Given the description of an element on the screen output the (x, y) to click on. 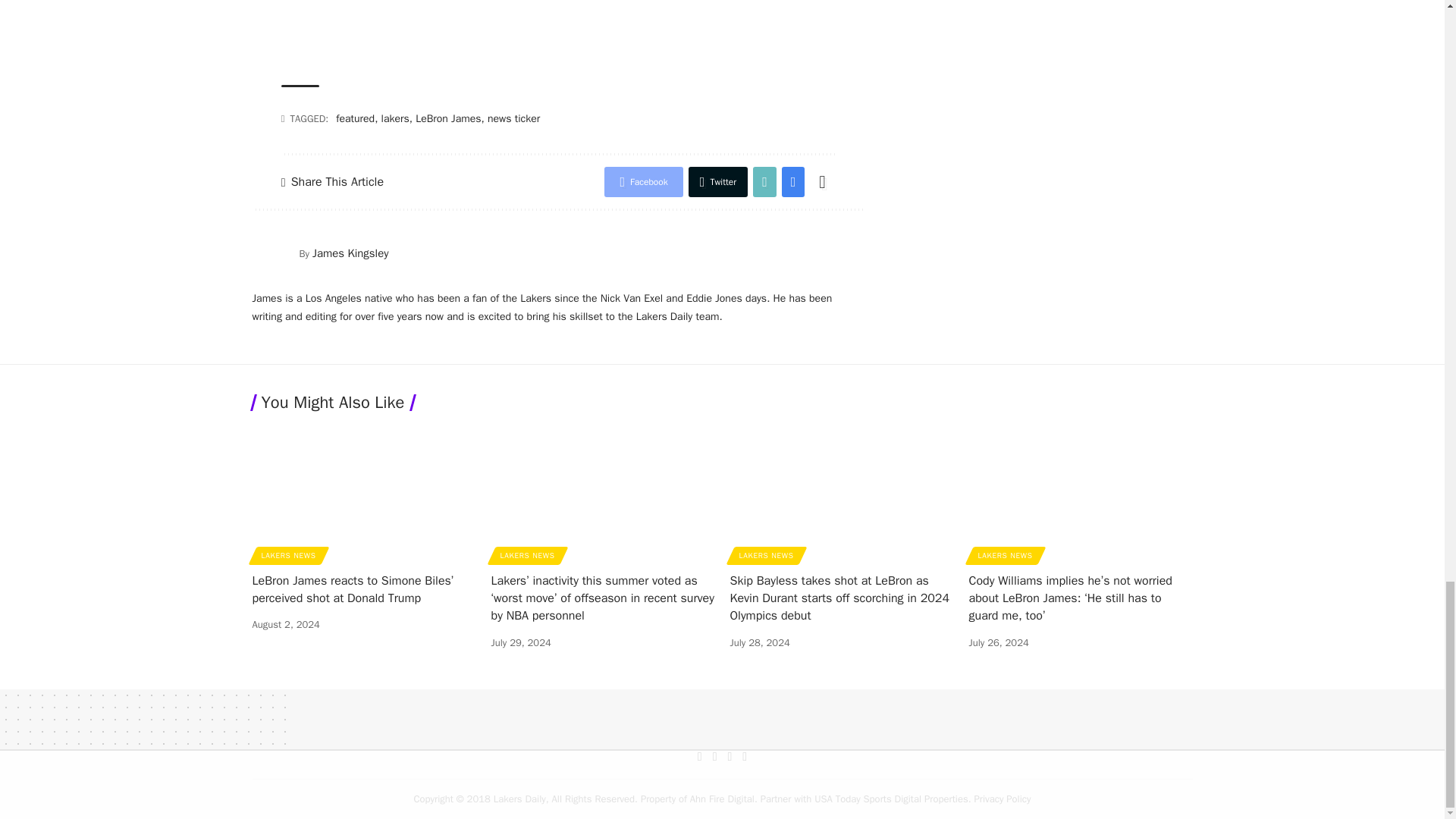
featured (355, 118)
lakers (395, 118)
